Given the description of an element on the screen output the (x, y) to click on. 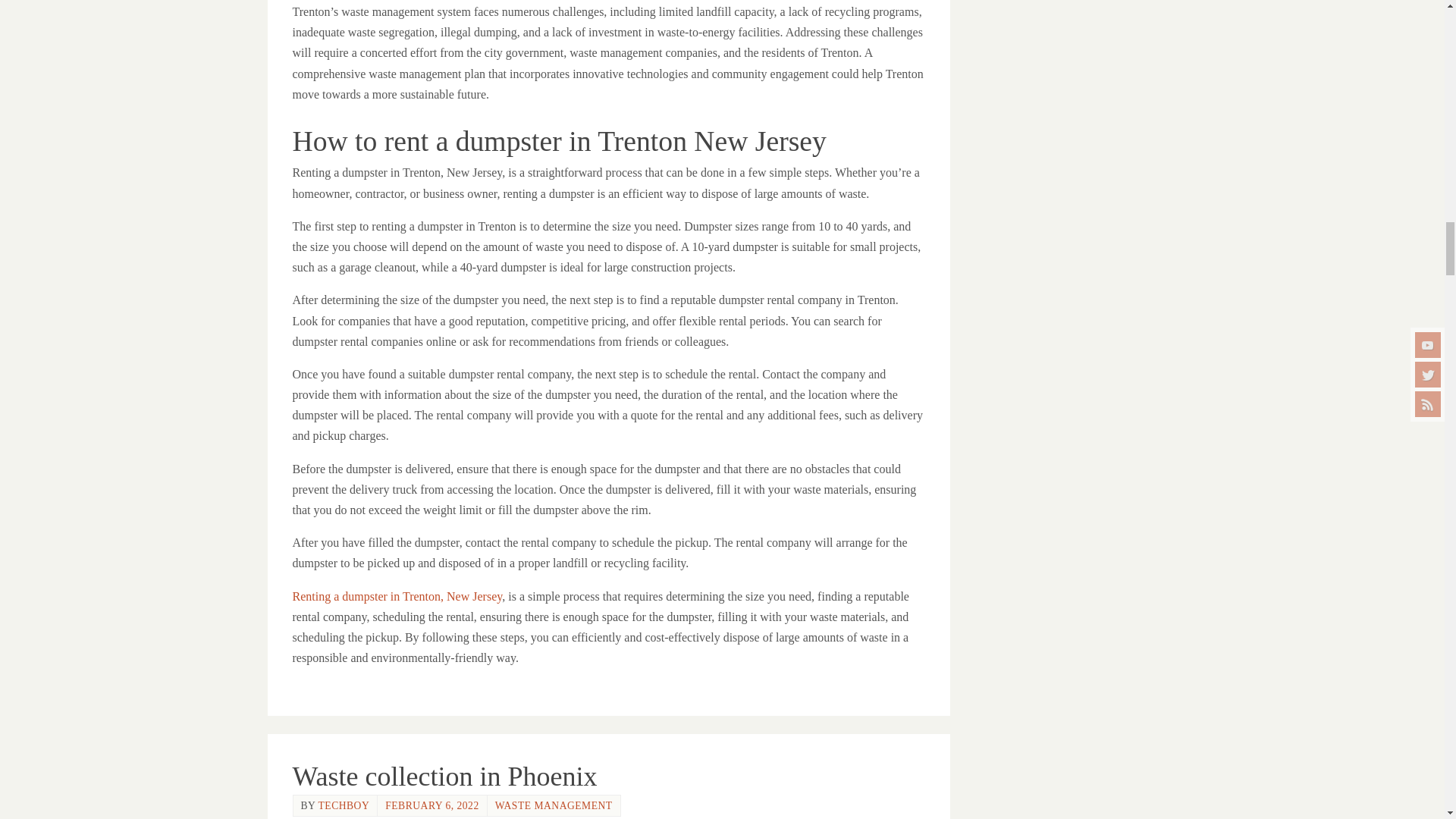
FEBRUARY 6, 2022 (432, 805)
WASTE MANAGEMENT (553, 805)
Waste collection in Phoenix (444, 776)
View all posts by techboy (343, 805)
Renting a dumpster in Trenton, New Jersey (397, 595)
TECHBOY (343, 805)
Permalink to Waste collection in Phoenix (444, 776)
